Given the description of an element on the screen output the (x, y) to click on. 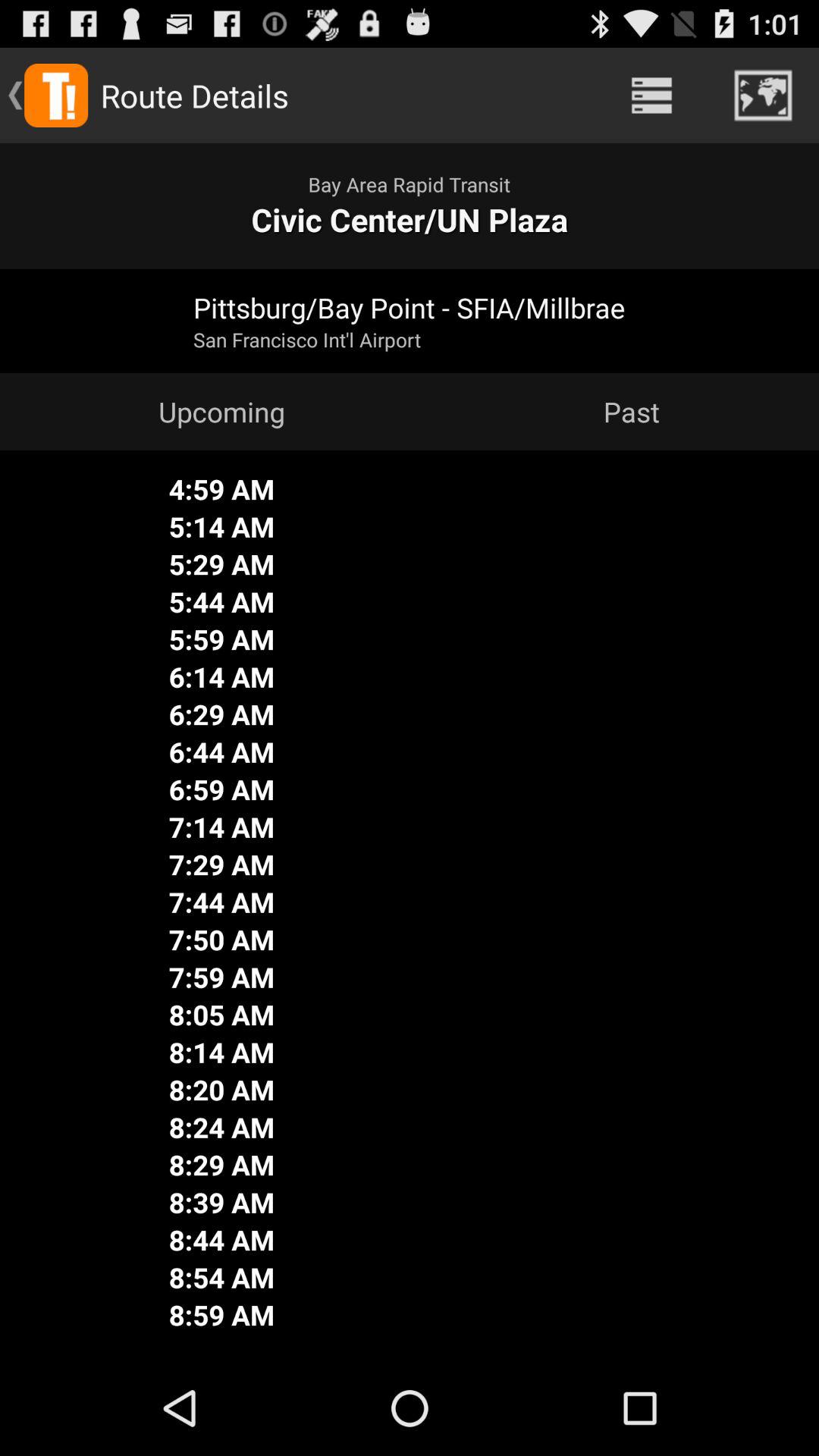
press app next to the route details app (651, 95)
